Given the description of an element on the screen output the (x, y) to click on. 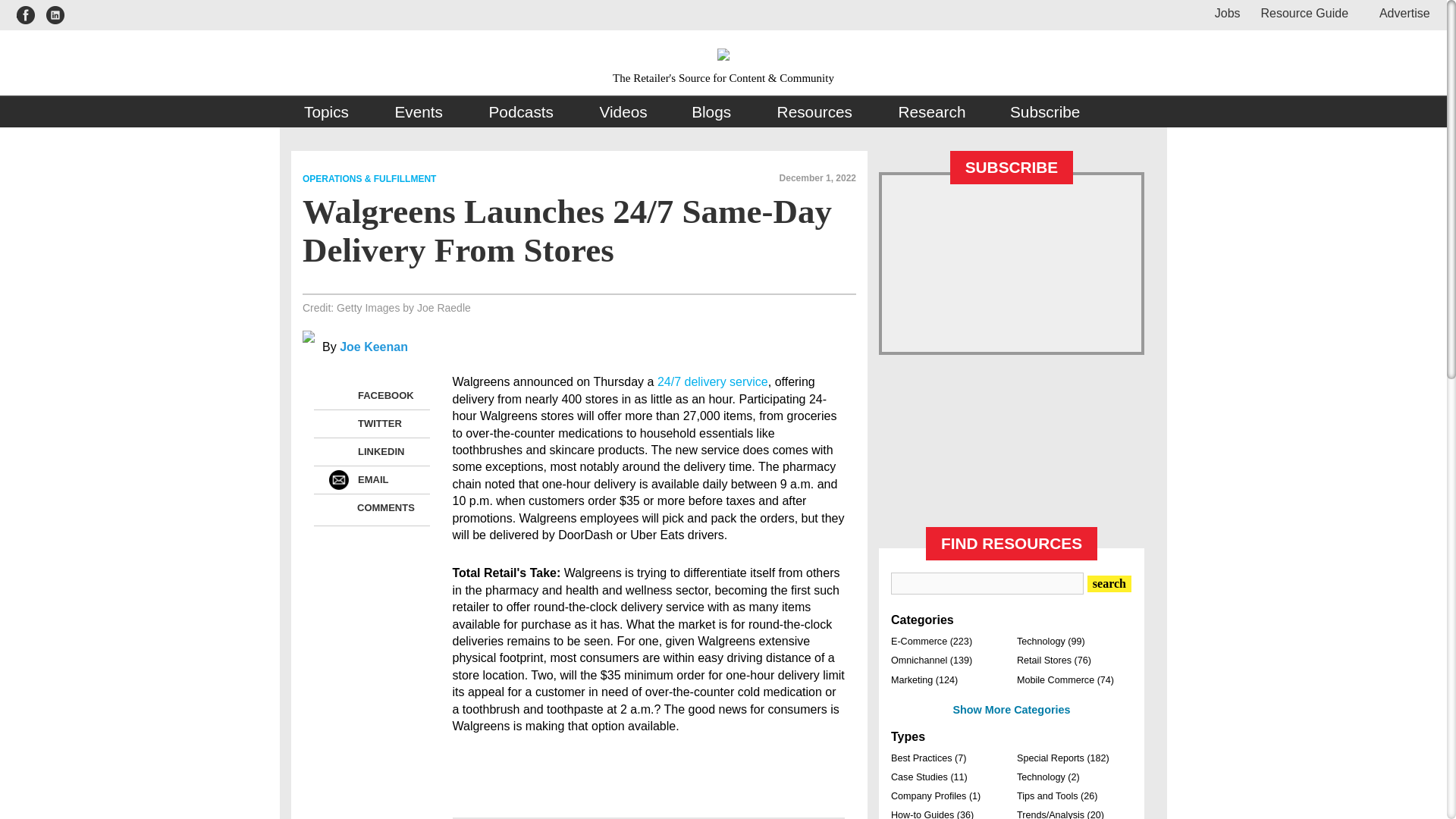
Email Link (339, 479)
Blogs (711, 112)
Videos (622, 112)
Podcasts (521, 112)
Resource Guide (1304, 12)
Twitter (339, 424)
LinkedIn (339, 451)
Topics (327, 112)
Advertise (1398, 12)
Events (418, 112)
